Given the description of an element on the screen output the (x, y) to click on. 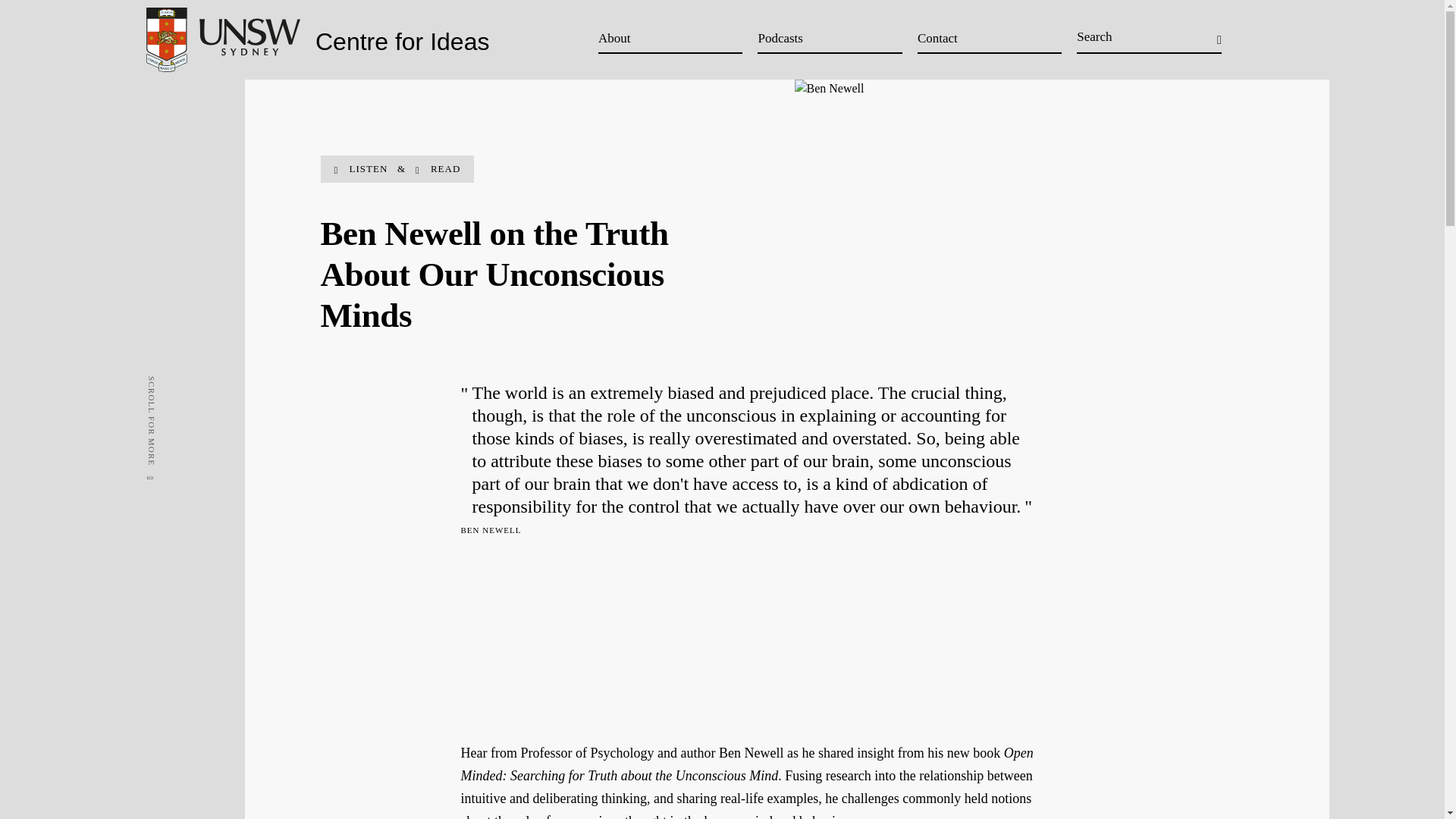
Centre for Ideas (317, 34)
Ben Newell on the Truth About Our Unconscious Minds (748, 637)
Contact (989, 38)
SCROLL FOR MORE (197, 380)
Podcasts (829, 38)
About (670, 38)
